Given the description of an element on the screen output the (x, y) to click on. 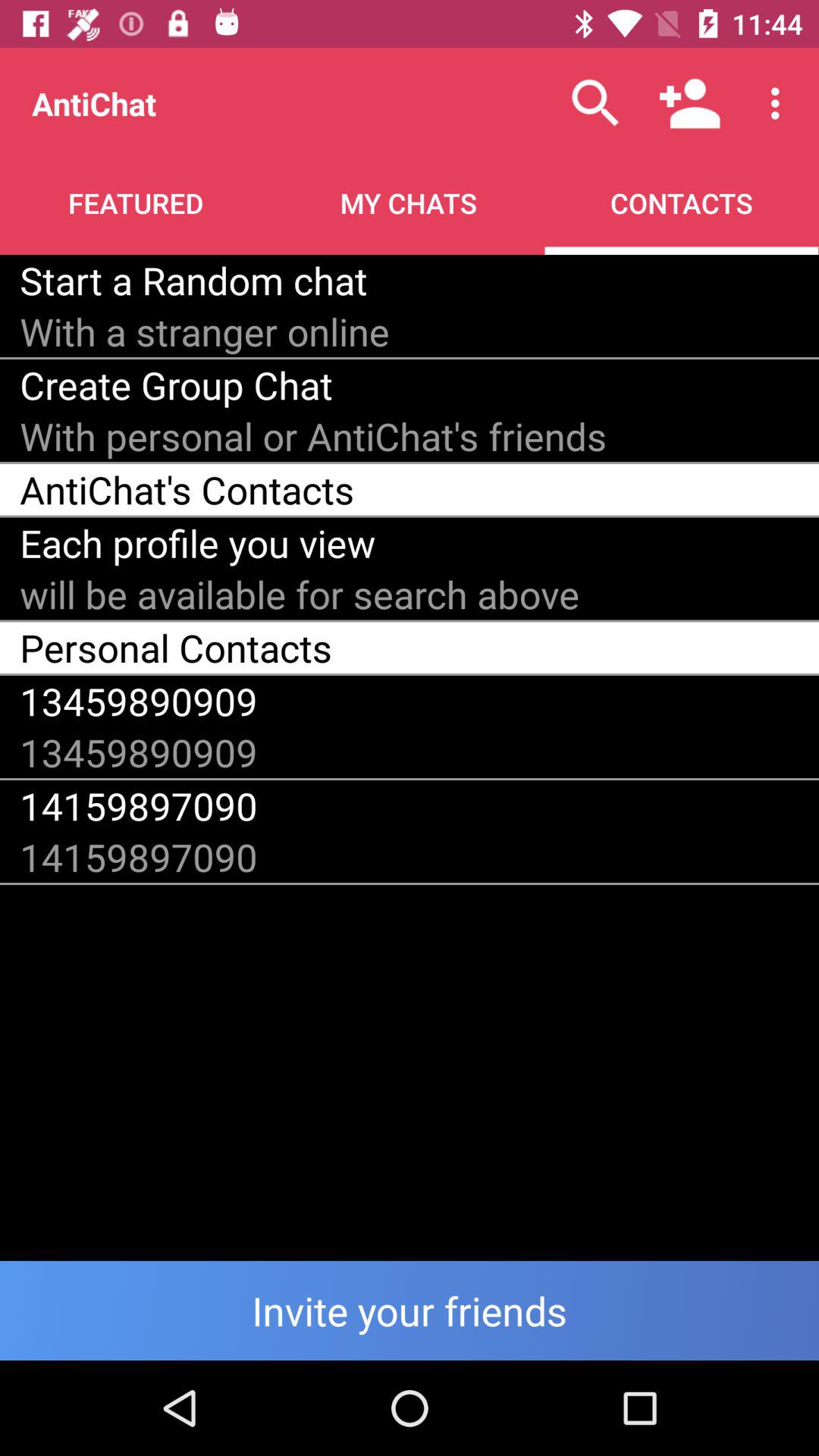
select item below featured icon (193, 279)
